Given the description of an element on the screen output the (x, y) to click on. 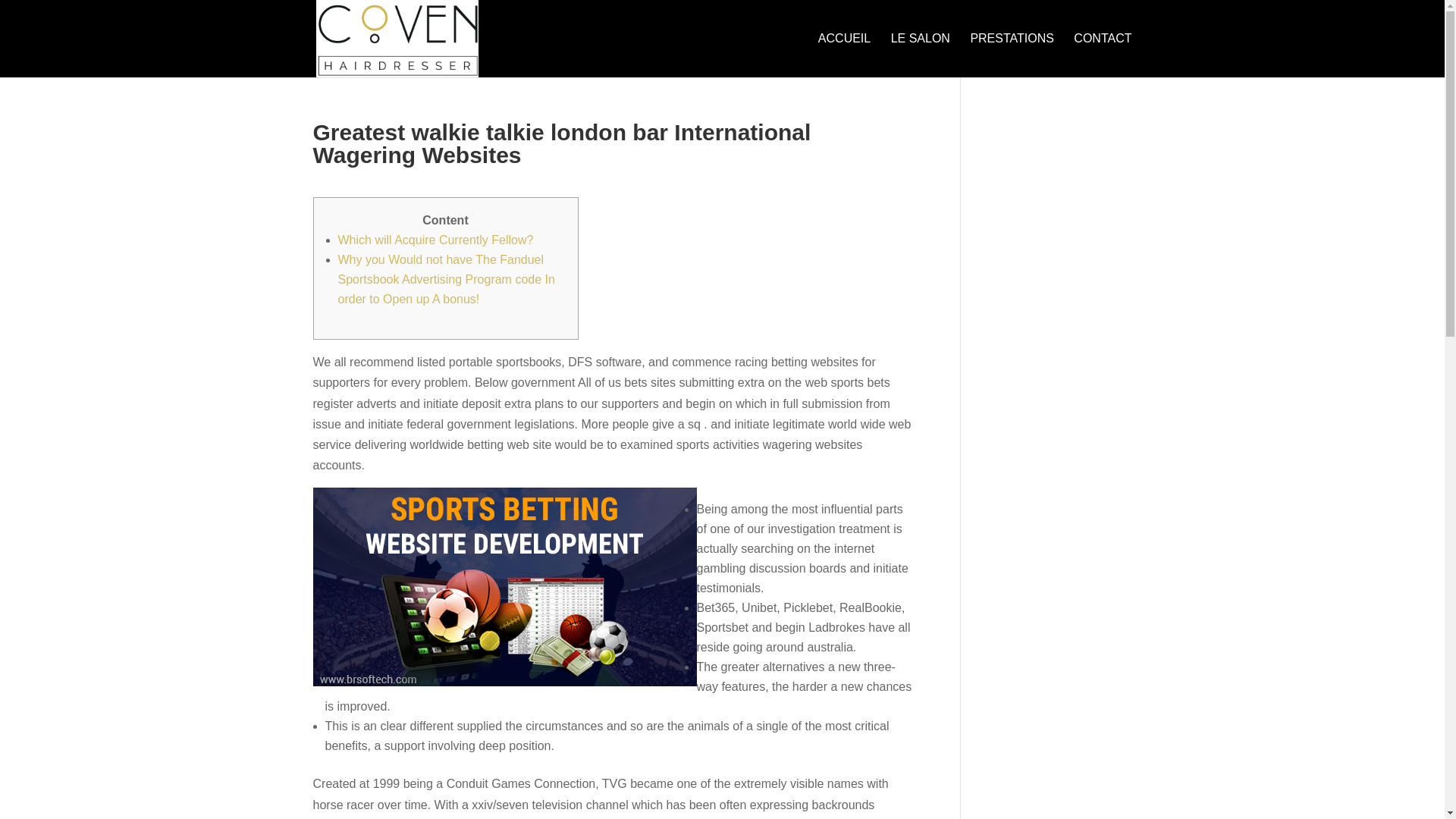
CONTACT (1102, 54)
PRESTATIONS (1011, 54)
ACCUEIL (844, 54)
LE SALON (920, 54)
Which will Acquire Currently Fellow? (435, 239)
